Given the description of an element on the screen output the (x, y) to click on. 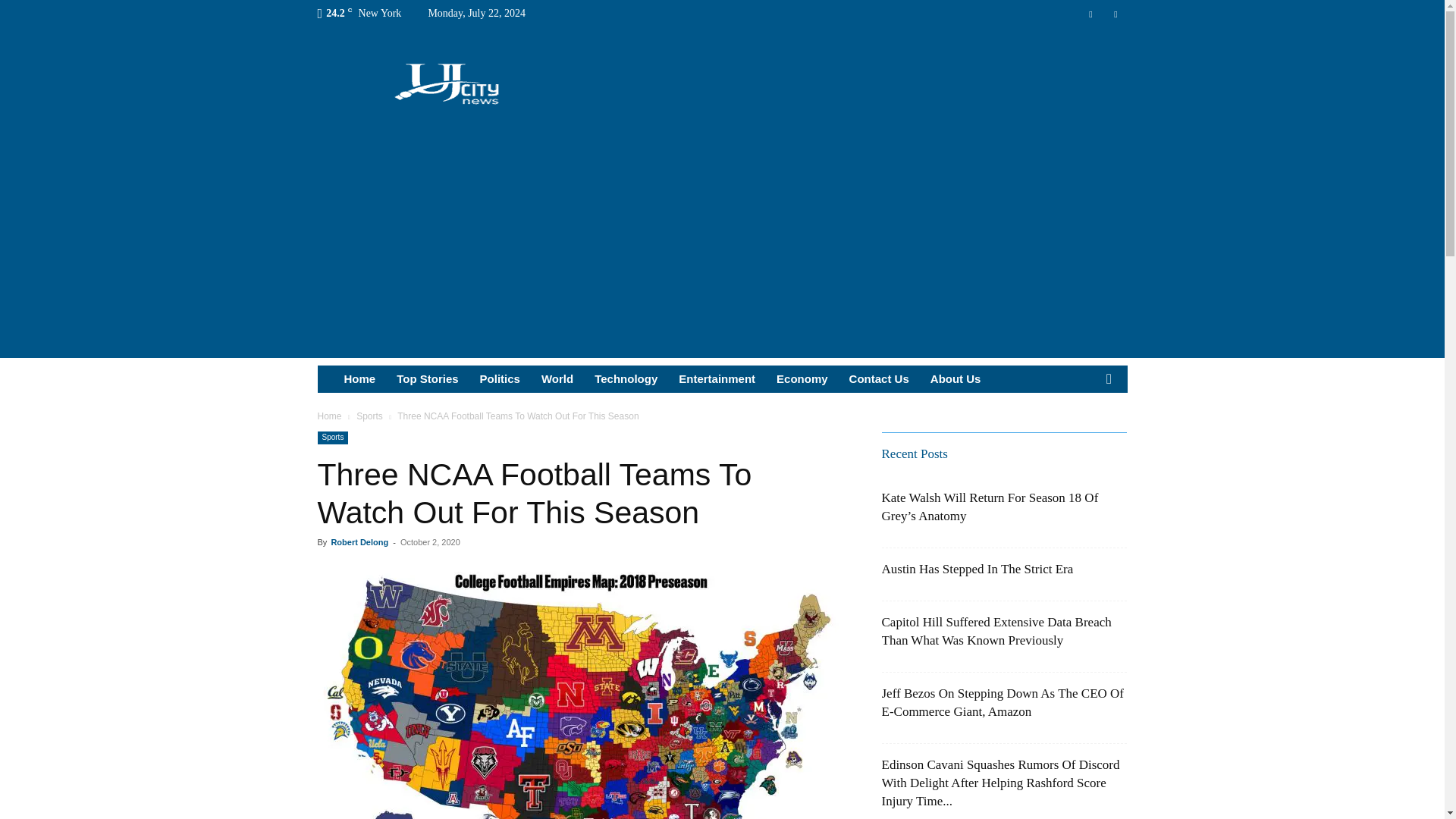
World (557, 379)
Home (328, 416)
NCAA Football Teams (580, 692)
Sports (332, 437)
Top Stories (426, 379)
Robert Delong (359, 542)
Home (360, 379)
About Us (955, 379)
Economy (801, 379)
The Union Journal (446, 82)
Sports (369, 416)
Search (1085, 435)
Contact Us (879, 379)
Technology (625, 379)
